Given the description of an element on the screen output the (x, y) to click on. 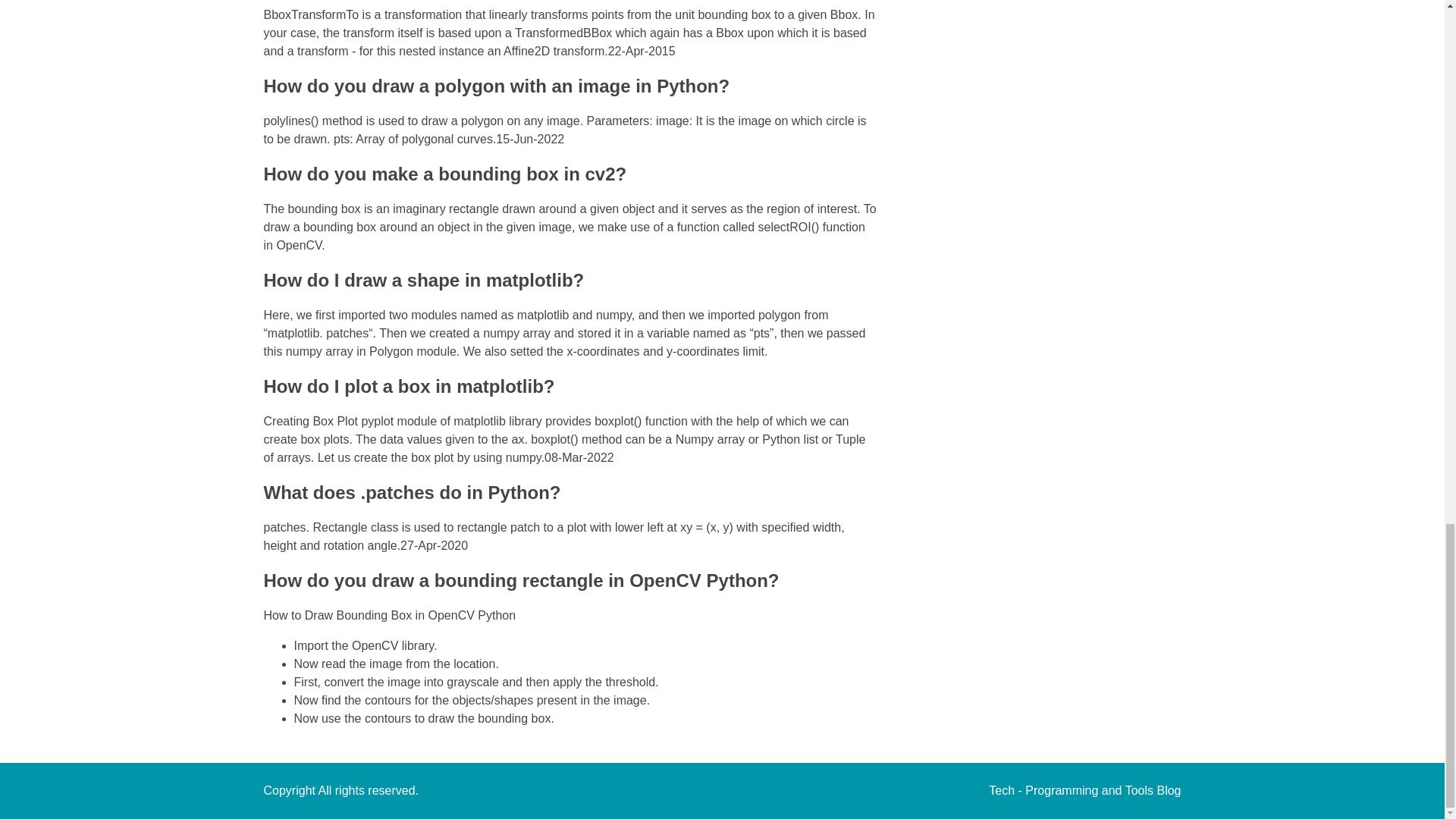
Tech - Programming and Tools Blog (1084, 790)
